Given the description of an element on the screen output the (x, y) to click on. 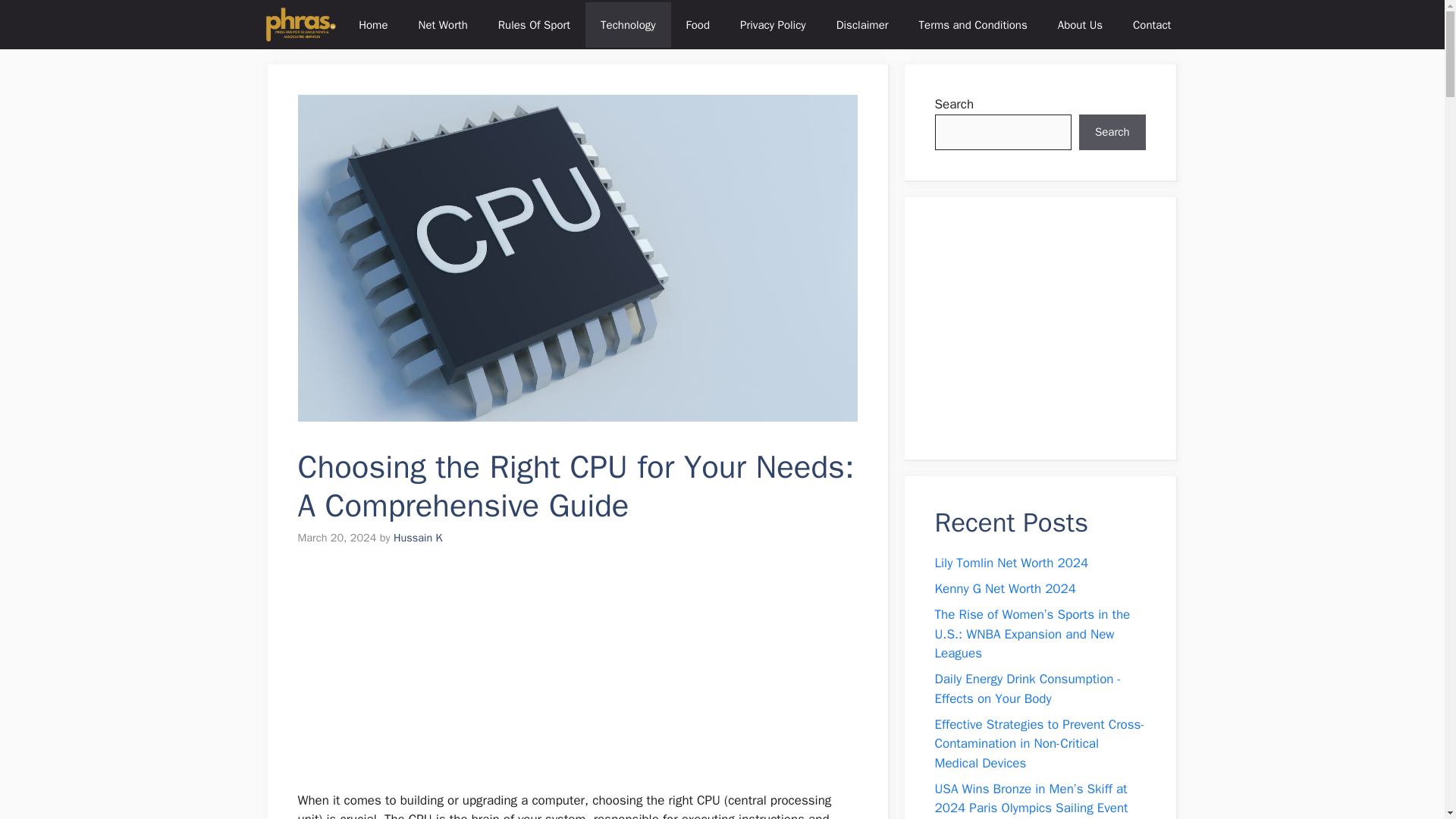
Lily Tomlin Net Worth 2024 (1010, 562)
About Us (1080, 23)
Search (1111, 131)
Food (698, 23)
Rules Of Sport (534, 23)
Advertisement (1050, 328)
Contact (1152, 23)
Technology (628, 23)
Kenny G Net Worth 2024 (1004, 588)
Advertisement (612, 678)
Terms and Conditions (973, 23)
View all posts by Hussain K (417, 537)
Hussain K (417, 537)
Privacy Policy (773, 23)
